Given the description of an element on the screen output the (x, y) to click on. 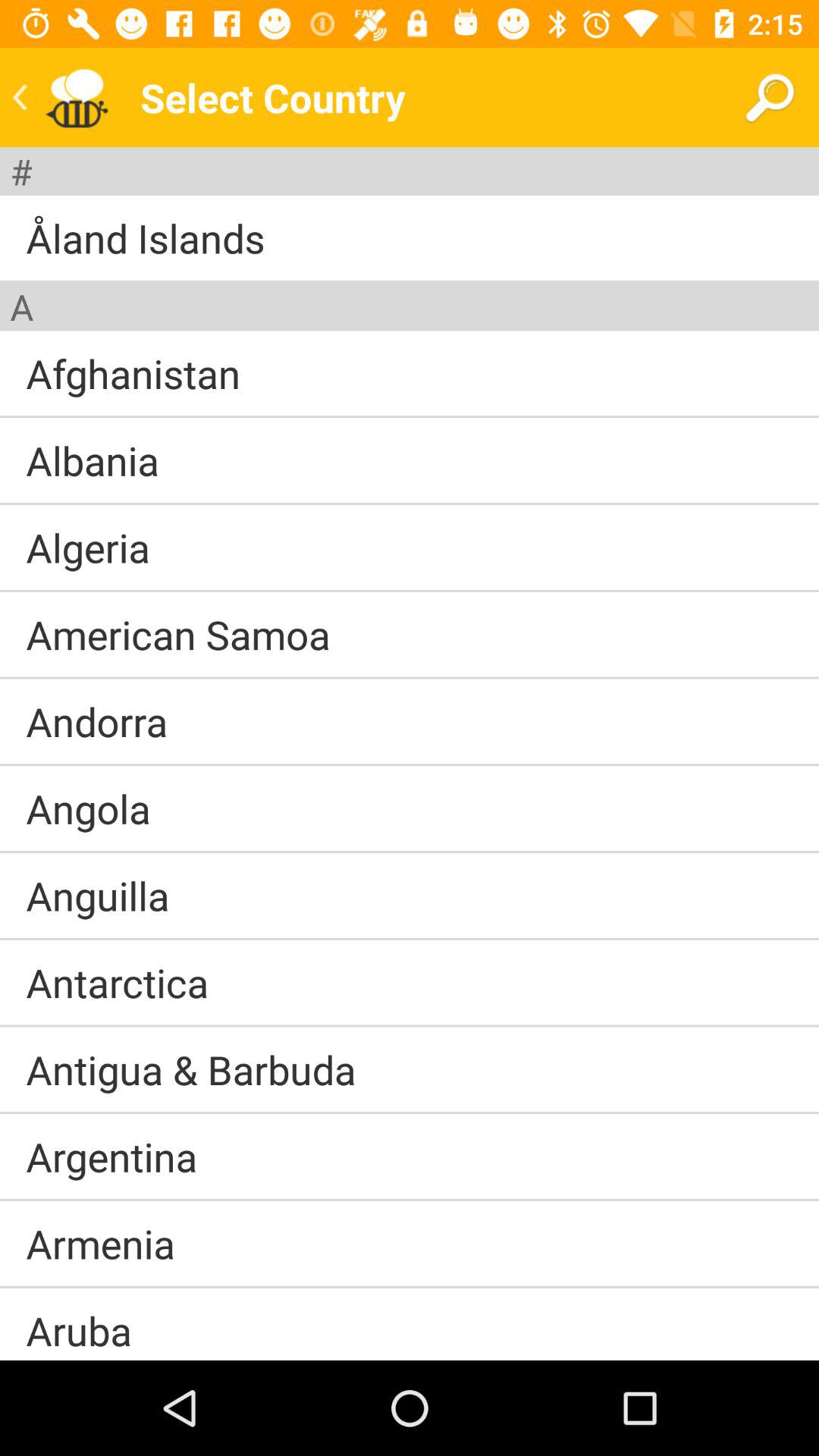
tap icon below the anguilla item (409, 938)
